Given the description of an element on the screen output the (x, y) to click on. 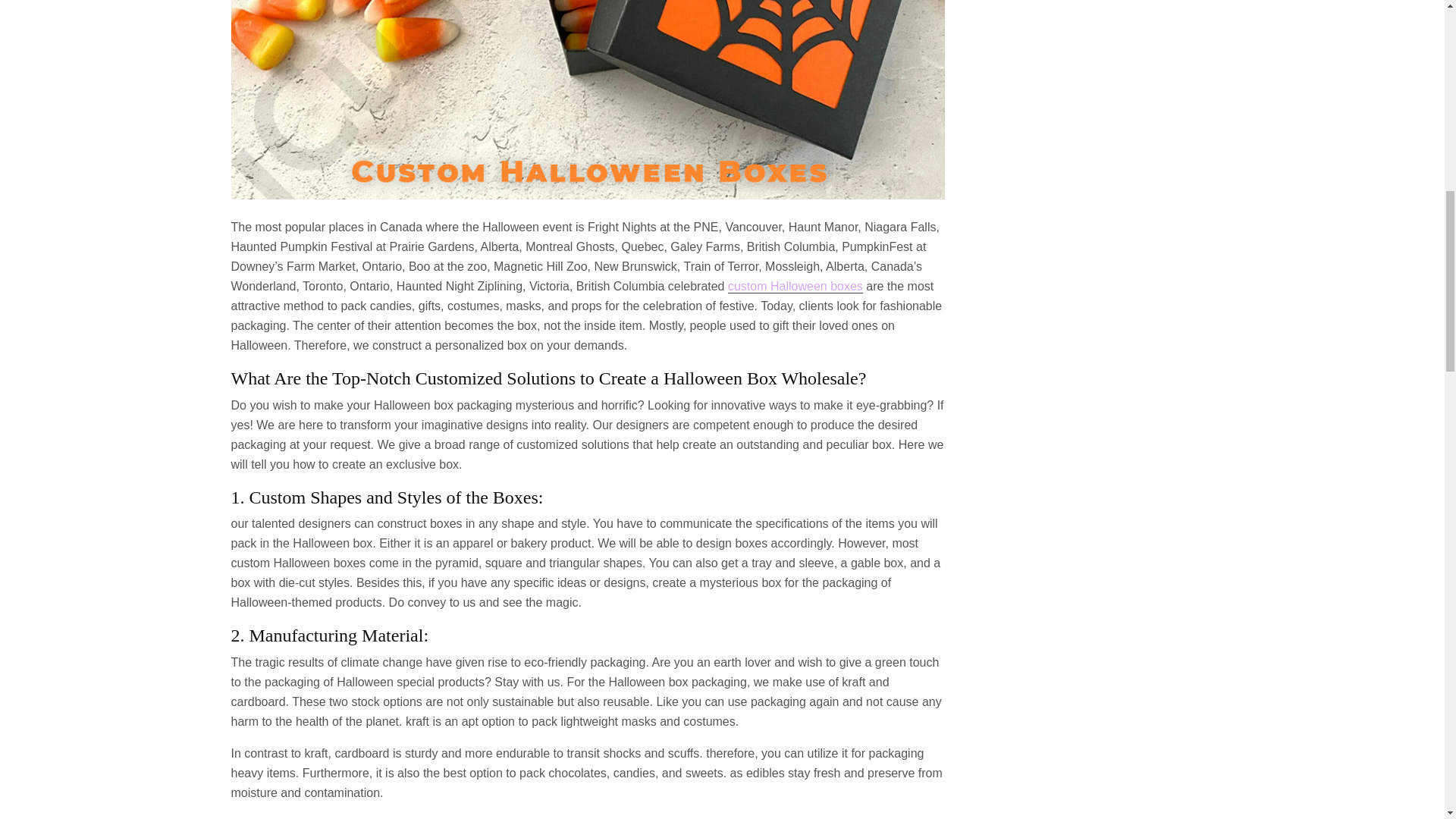
custom Halloween boxes (795, 286)
